Given the description of an element on the screen output the (x, y) to click on. 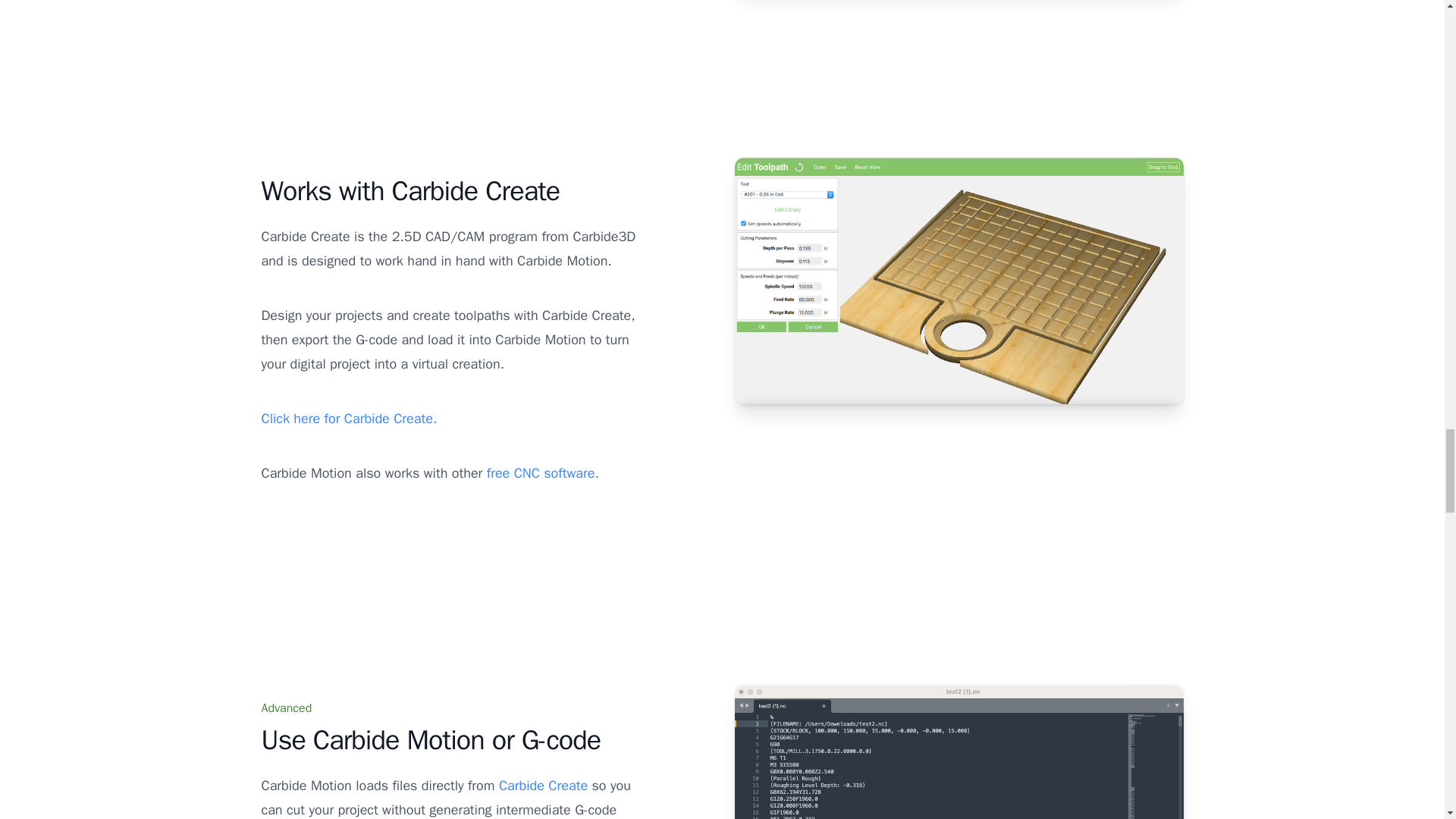
Click here for Carbide Create. (348, 418)
free CNC software. (542, 473)
Carbide Create (543, 785)
